Given the description of an element on the screen output the (x, y) to click on. 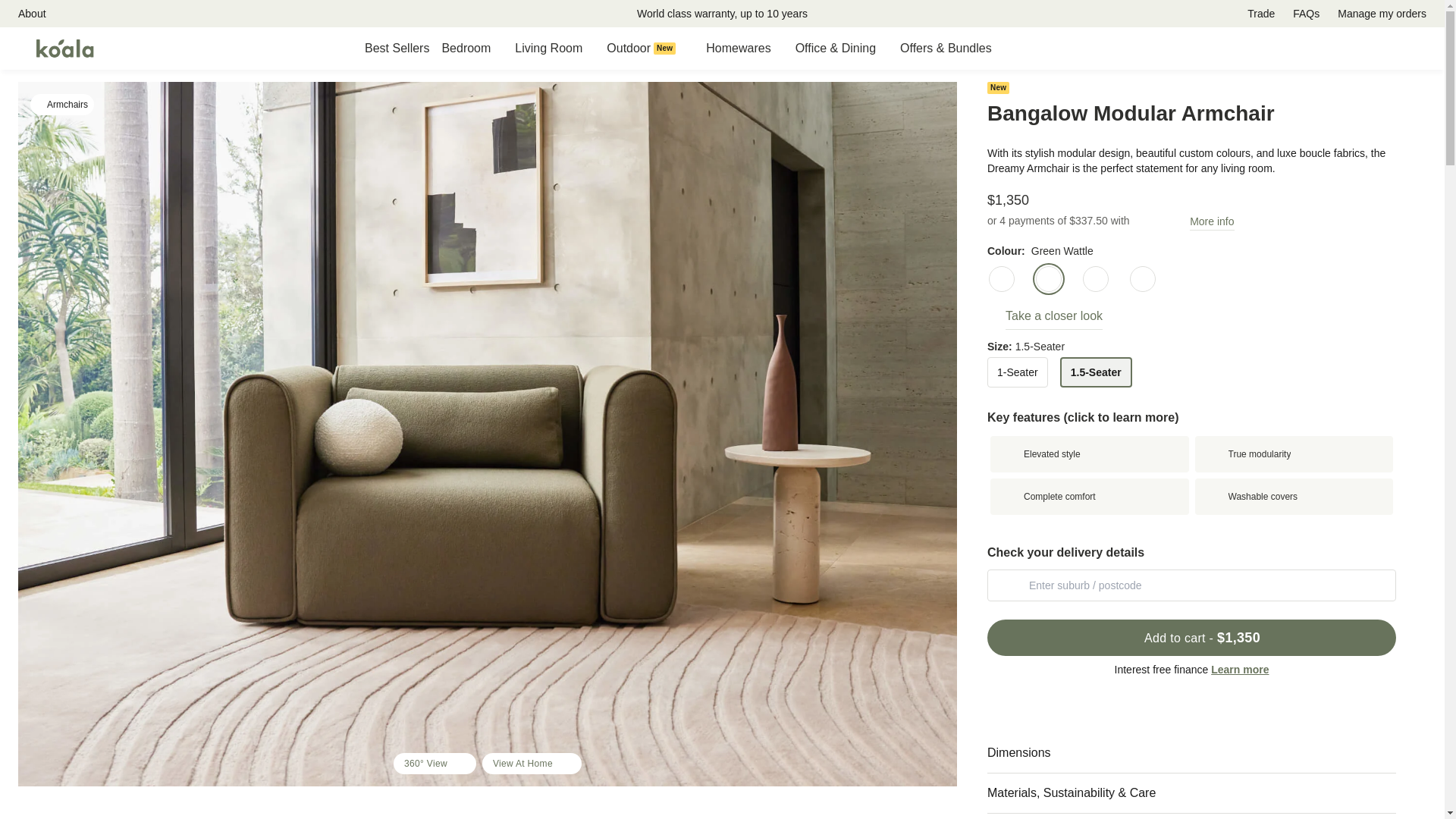
Best Sellers (650, 47)
Add to cart (397, 47)
Armchairs (277, 17)
FAQs (62, 104)
About (1305, 13)
Homewares (31, 13)
About (744, 47)
Trade (39, 13)
Manage my orders (1261, 13)
